Given the description of an element on the screen output the (x, y) to click on. 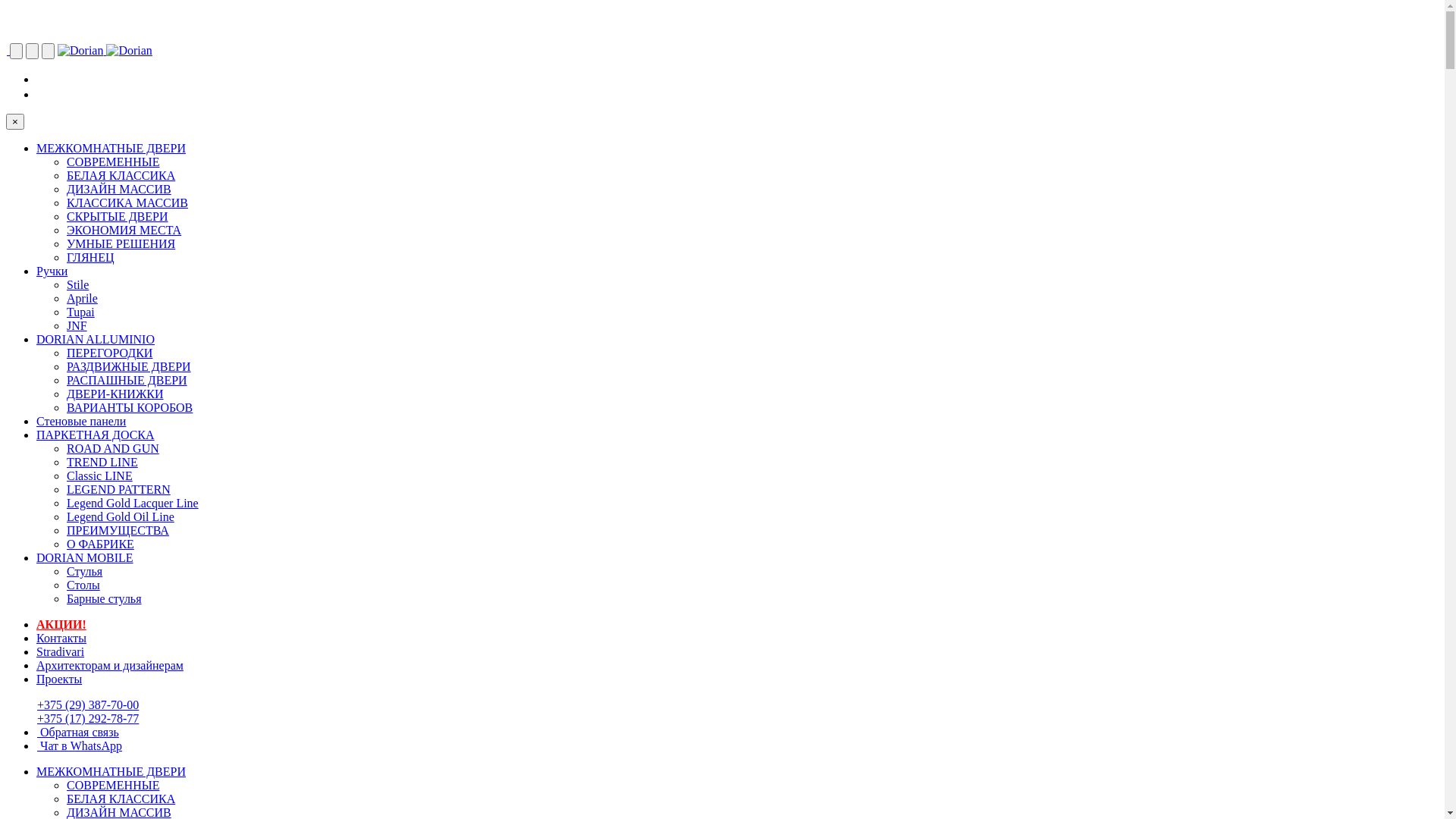
Stile Element type: text (77, 284)
Tupai Element type: text (80, 311)
Aprile Element type: text (81, 297)
Classic LINE Element type: text (99, 475)
DORIAN ALLUMINIO Element type: text (95, 338)
TREND LINE Element type: text (102, 461)
Legend Gold Oil Line Element type: text (120, 516)
ROAD AND GUN Element type: text (112, 448)
+375 (17) 292-78-77 Element type: text (87, 718)
DORIAN MOBILE Element type: text (84, 557)
JNF Element type: text (76, 325)
Legend Gold Lacquer Line Element type: text (132, 502)
+375 (29) 387-70-00 Element type: text (87, 705)
Stradivari Element type: text (60, 651)
LEGEND PATTERN Element type: text (118, 489)
